Given the description of an element on the screen output the (x, y) to click on. 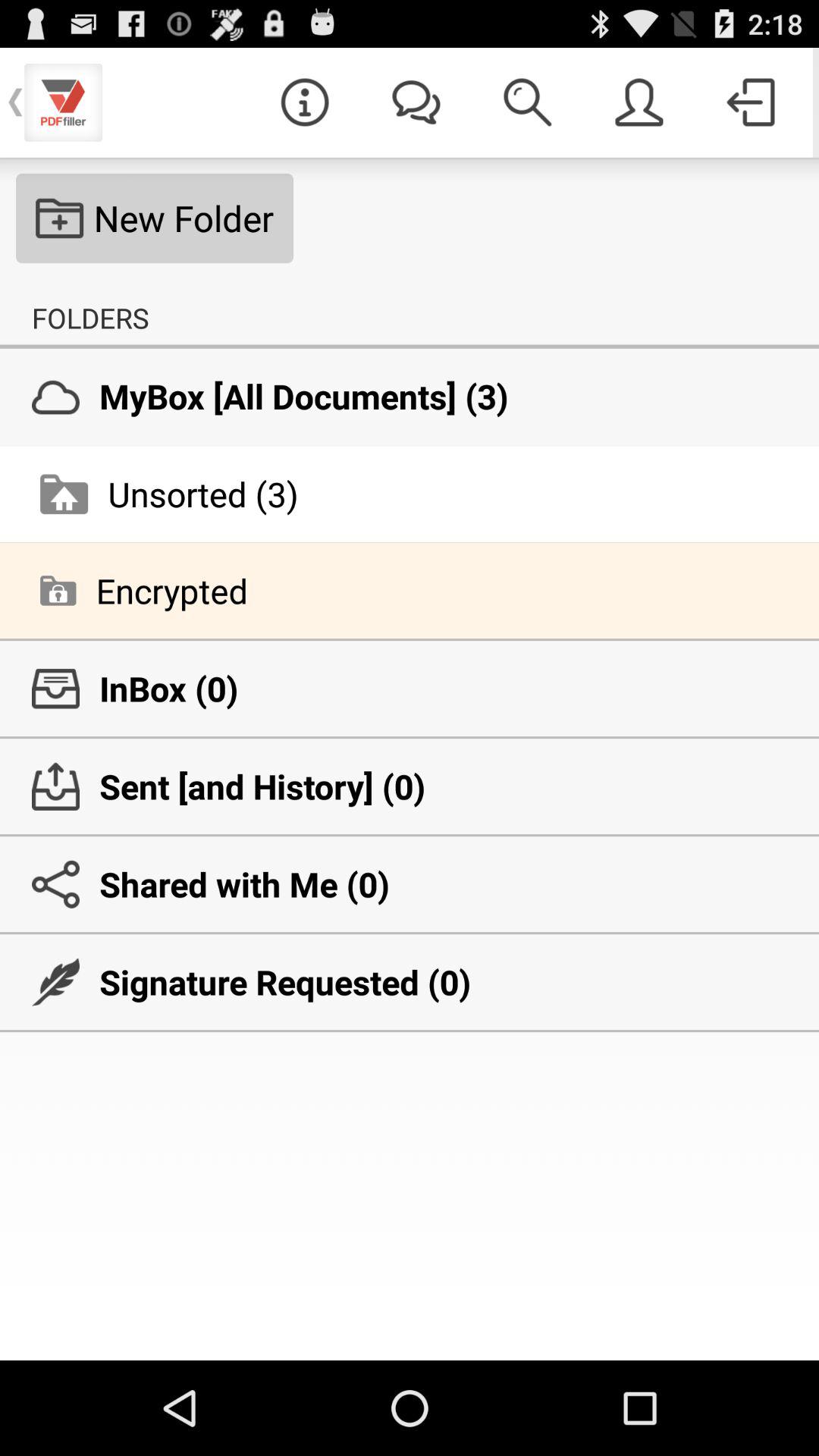
scroll to the inbox (0) icon (409, 688)
